Given the description of an element on the screen output the (x, y) to click on. 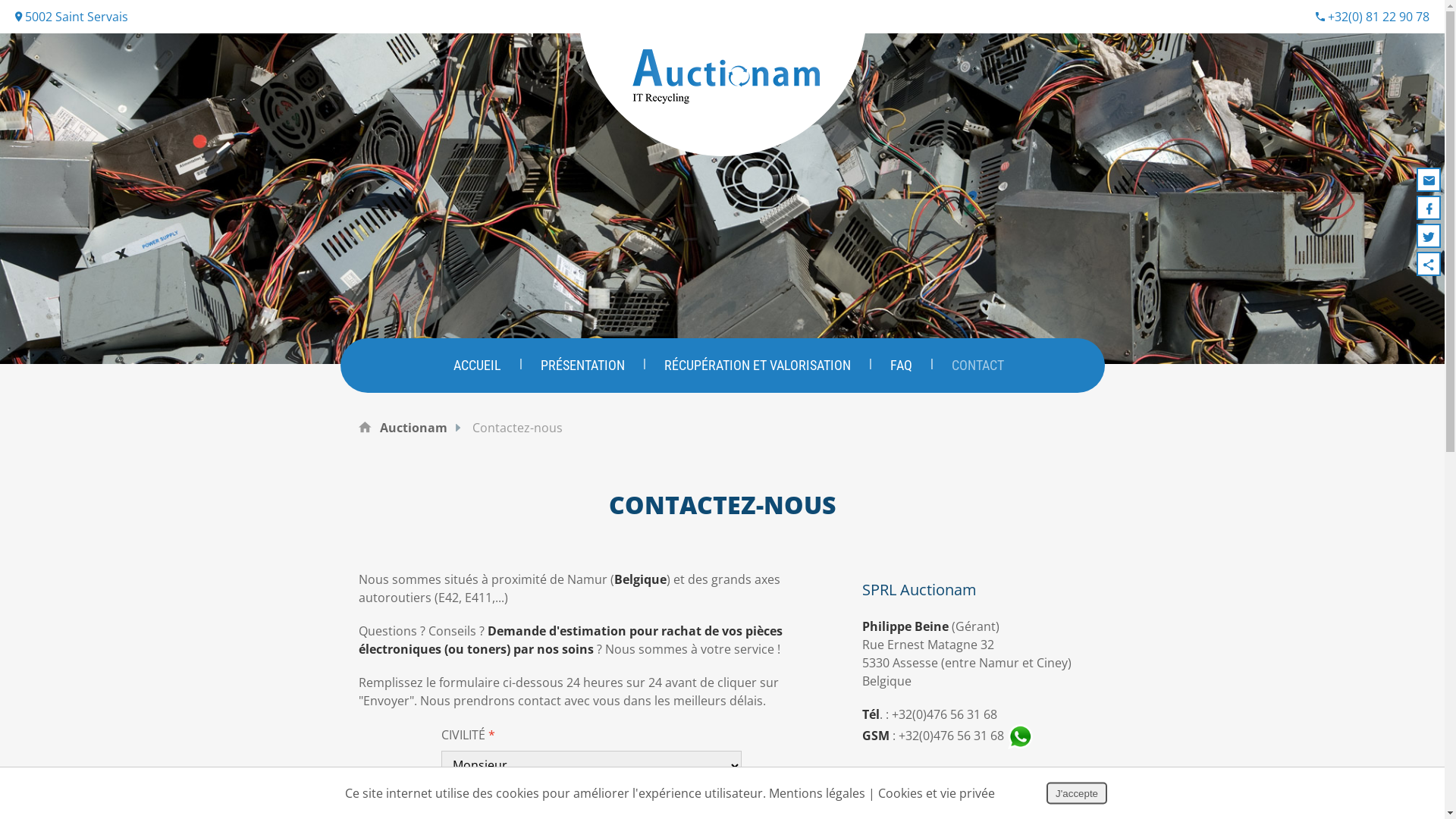
Auctionam Element type: text (412, 427)
FAQ Element type: text (901, 365)
ACCUEIL Element type: text (477, 365)
Partager ce contenu Element type: text (1428, 263)
CONTACT Element type: text (976, 365)
+32(0) 81 22 90 78 Element type: text (1372, 16)
5002 Saint Servais Element type: text (71, 16)
